Given the description of an element on the screen output the (x, y) to click on. 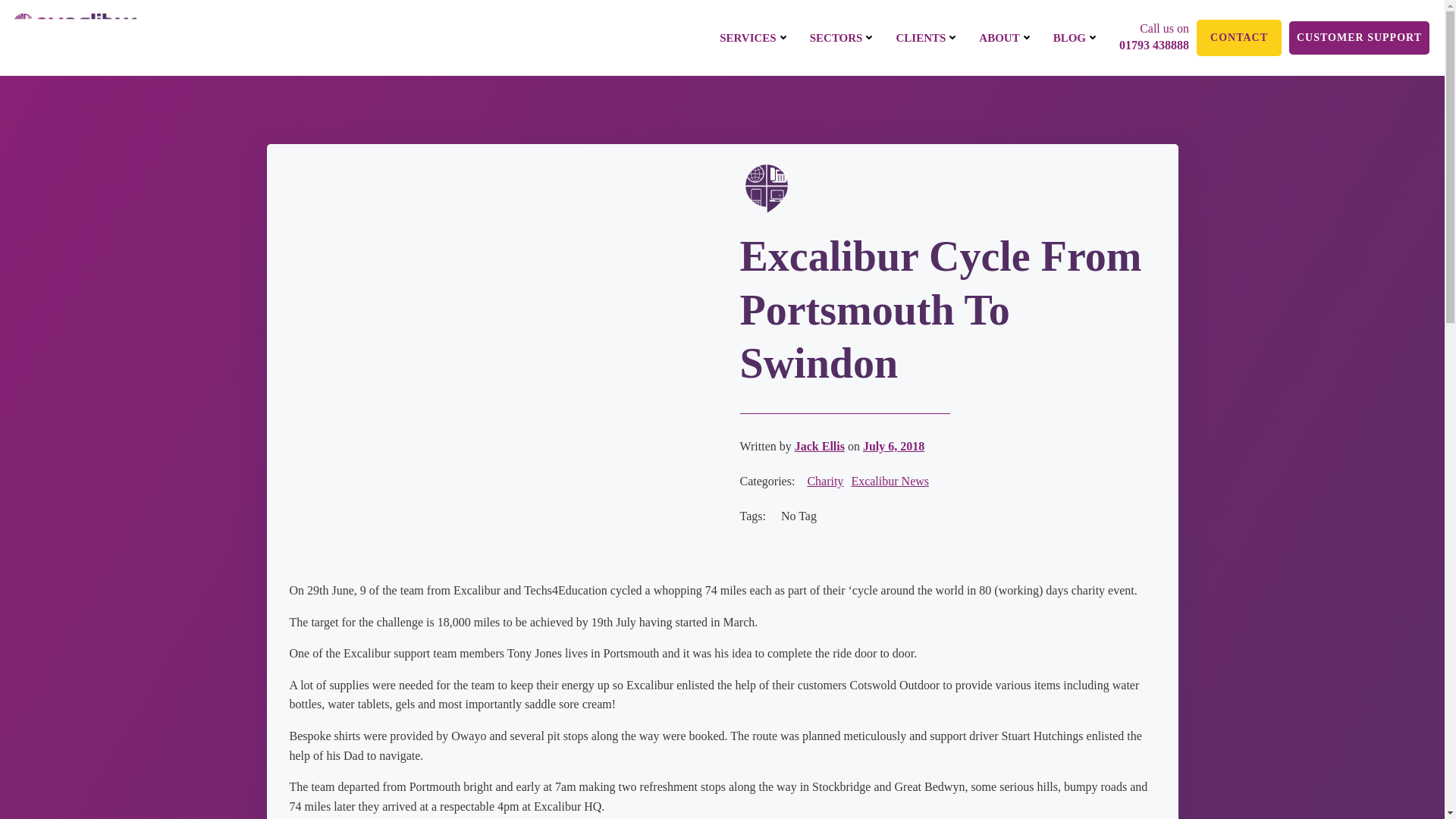
SECTORS (842, 37)
SERVICES (754, 37)
BLOG (1075, 37)
ABOUT (1005, 37)
CLIENTS (927, 37)
